Given the description of an element on the screen output the (x, y) to click on. 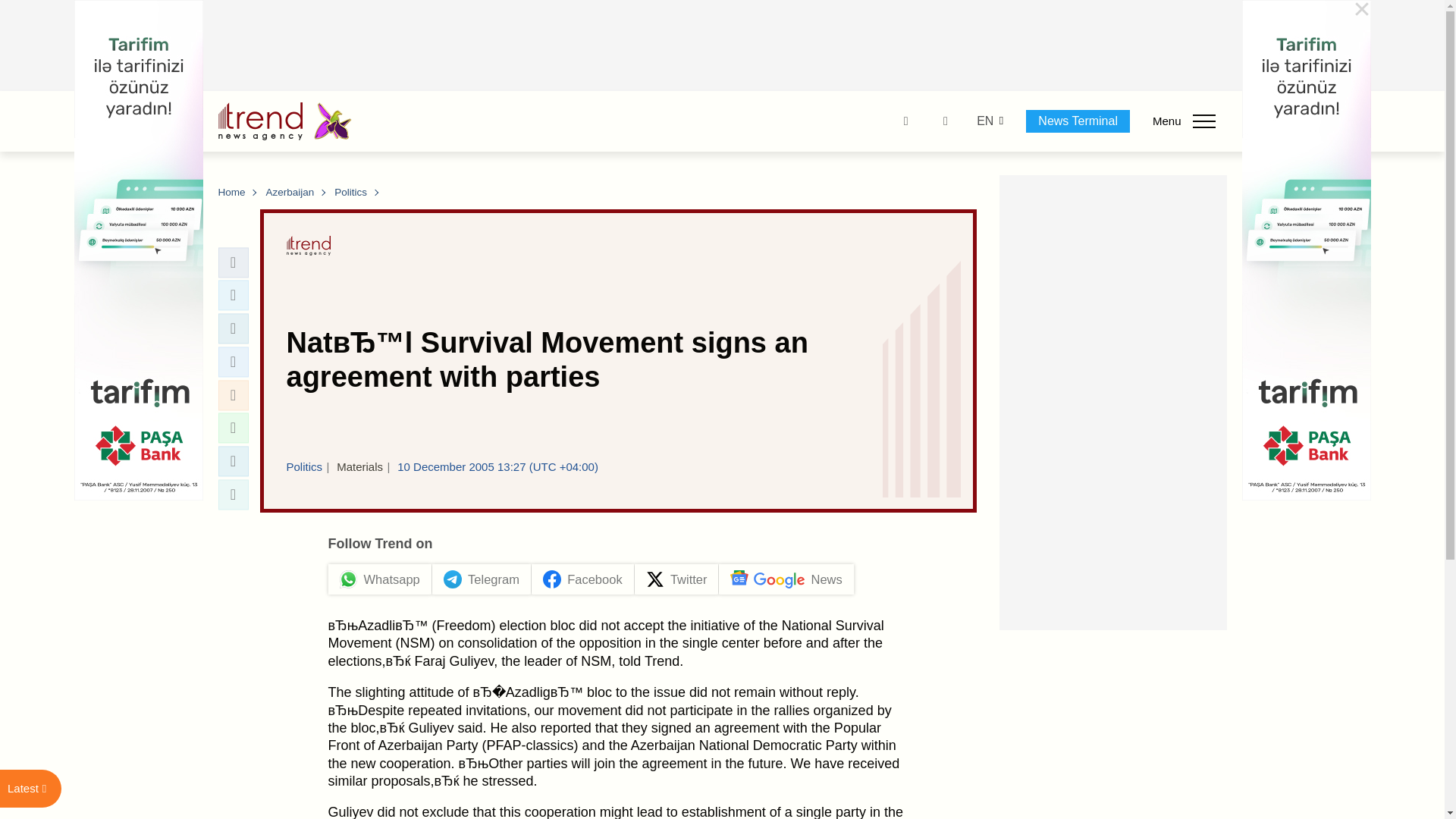
News Terminal (1077, 120)
EN (984, 121)
3rd party ad content (1112, 402)
3rd party ad content (722, 45)
English (984, 121)
